Given the description of an element on the screen output the (x, y) to click on. 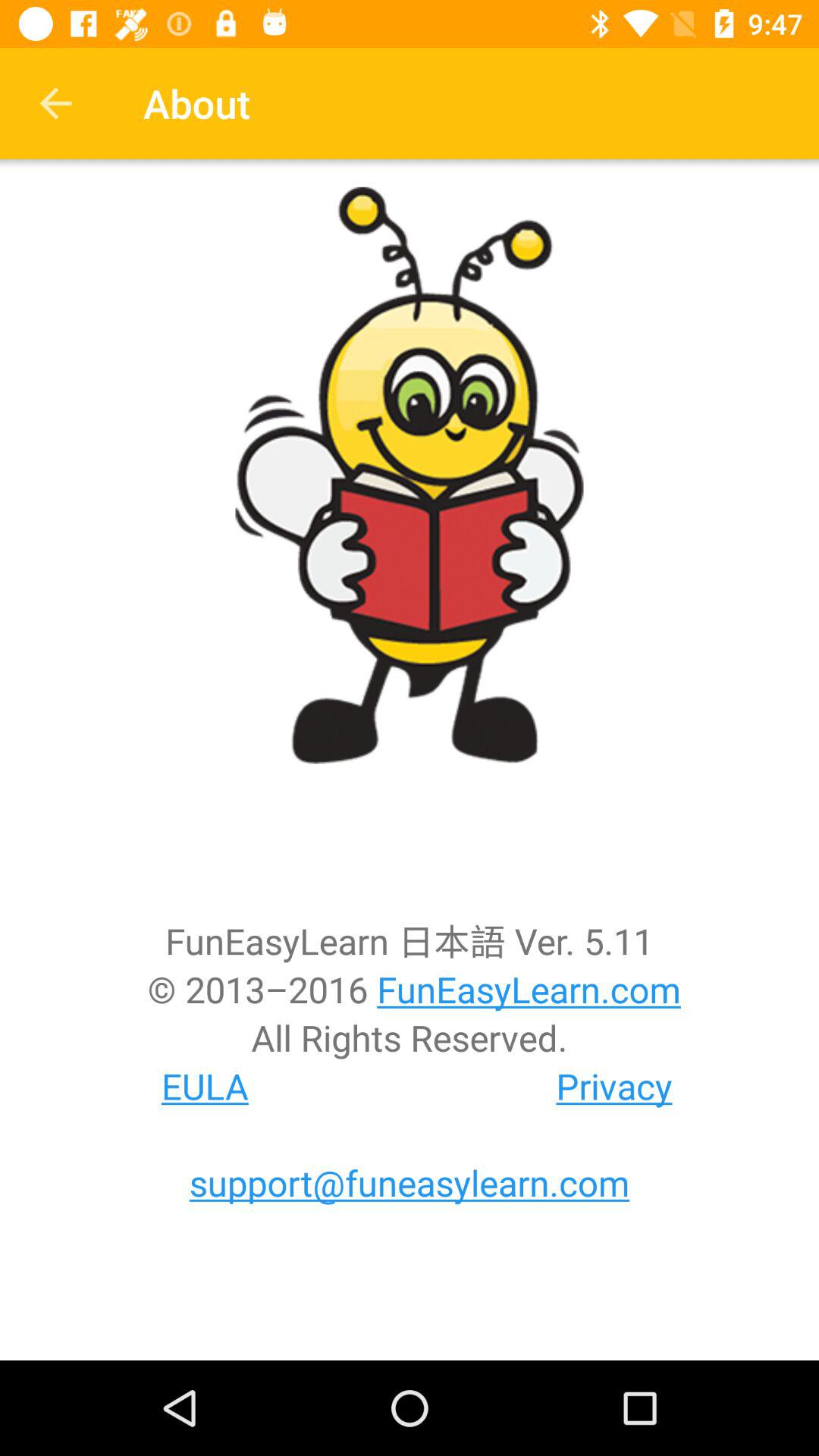
turn on eula at the bottom left corner (204, 1085)
